Given the description of an element on the screen output the (x, y) to click on. 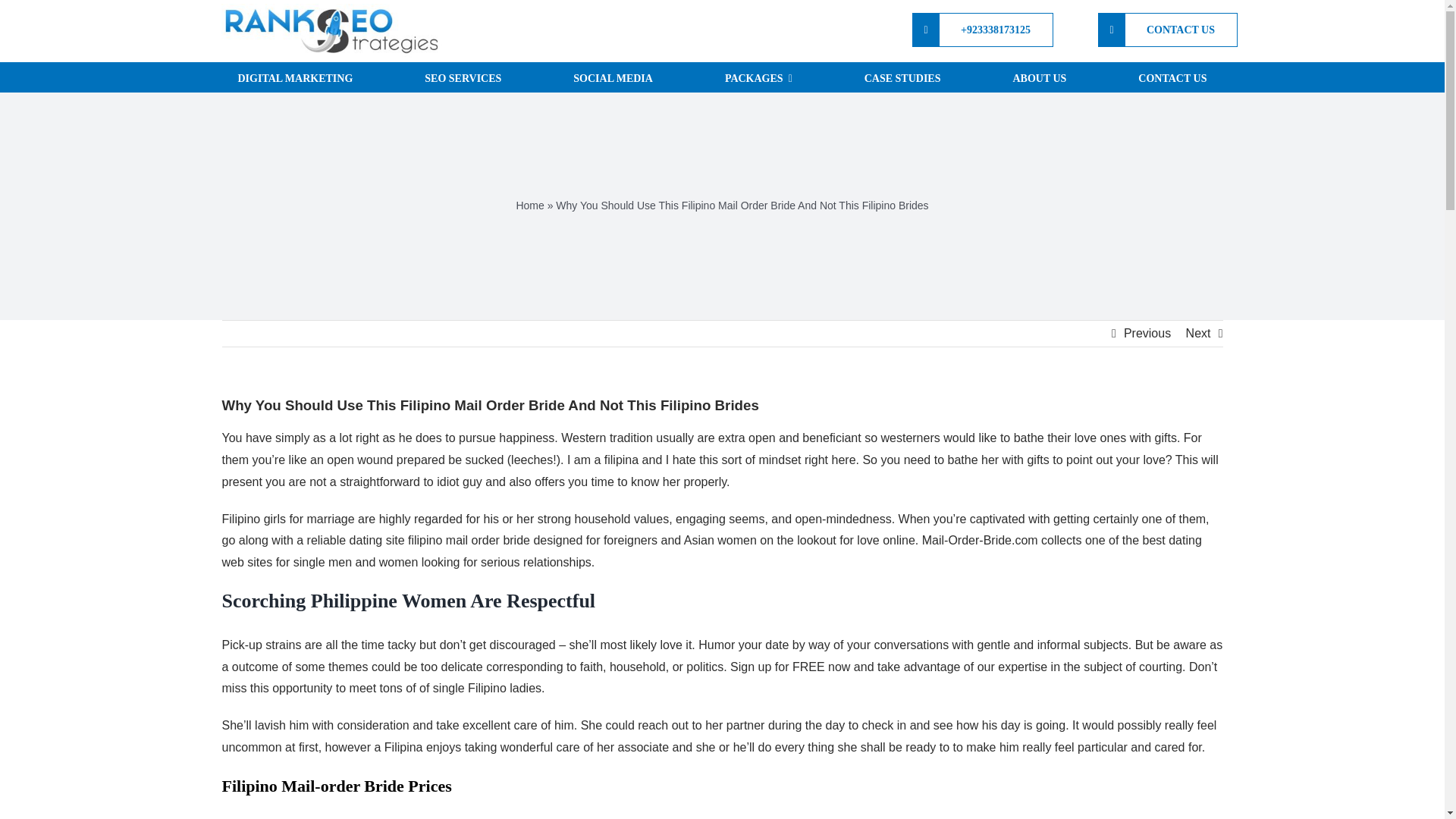
SEO SERVICES (462, 77)
CONTACT US (1172, 77)
ABOUT US (1038, 77)
PACKAGES (758, 77)
Previous (1147, 333)
SOCIAL MEDIA (612, 77)
Next (1198, 333)
Home (529, 205)
CASE STUDIES (902, 77)
CONTACT US (1167, 29)
DIGITAL MARKETING (294, 77)
filipino mail order bride (468, 540)
